Given the description of an element on the screen output the (x, y) to click on. 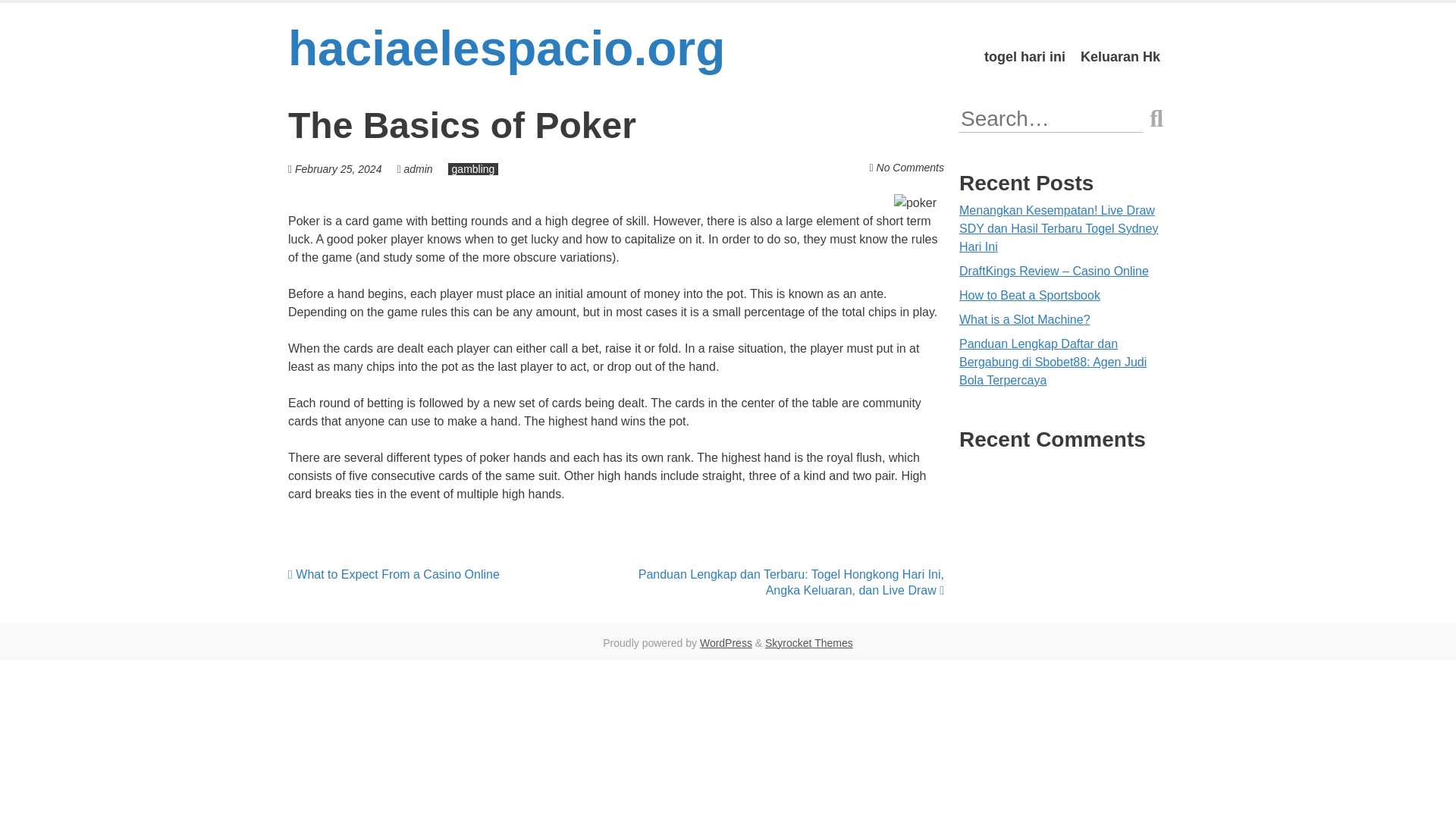
No Comments (909, 167)
Keluaran Hk (1120, 57)
haciaelespacio.org (506, 48)
admin (417, 168)
February 25, 2024 (338, 168)
Comment on The Basics of Poker (909, 167)
gambling (473, 168)
What to Expect From a Casino Online (393, 574)
